Given the description of an element on the screen output the (x, y) to click on. 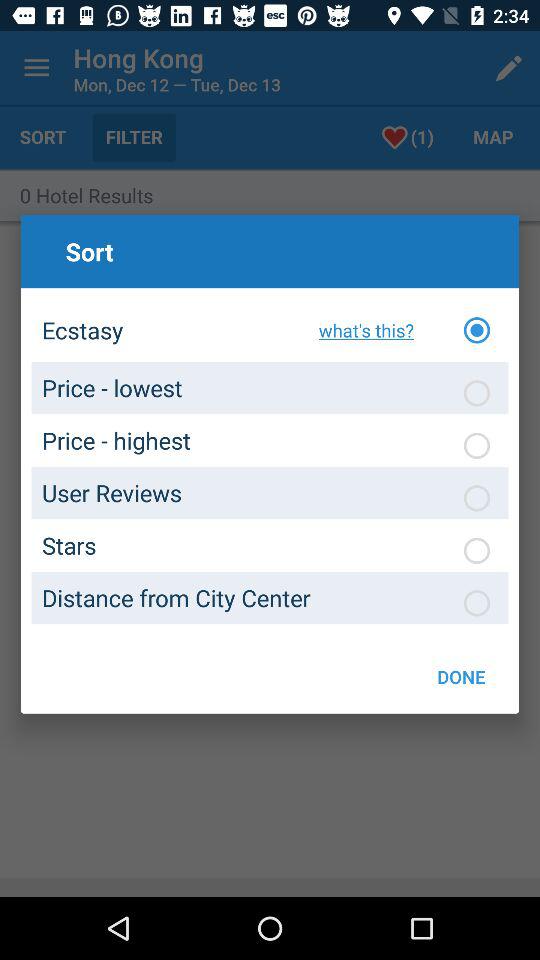
select ecstasy option (477, 330)
